Given the description of an element on the screen output the (x, y) to click on. 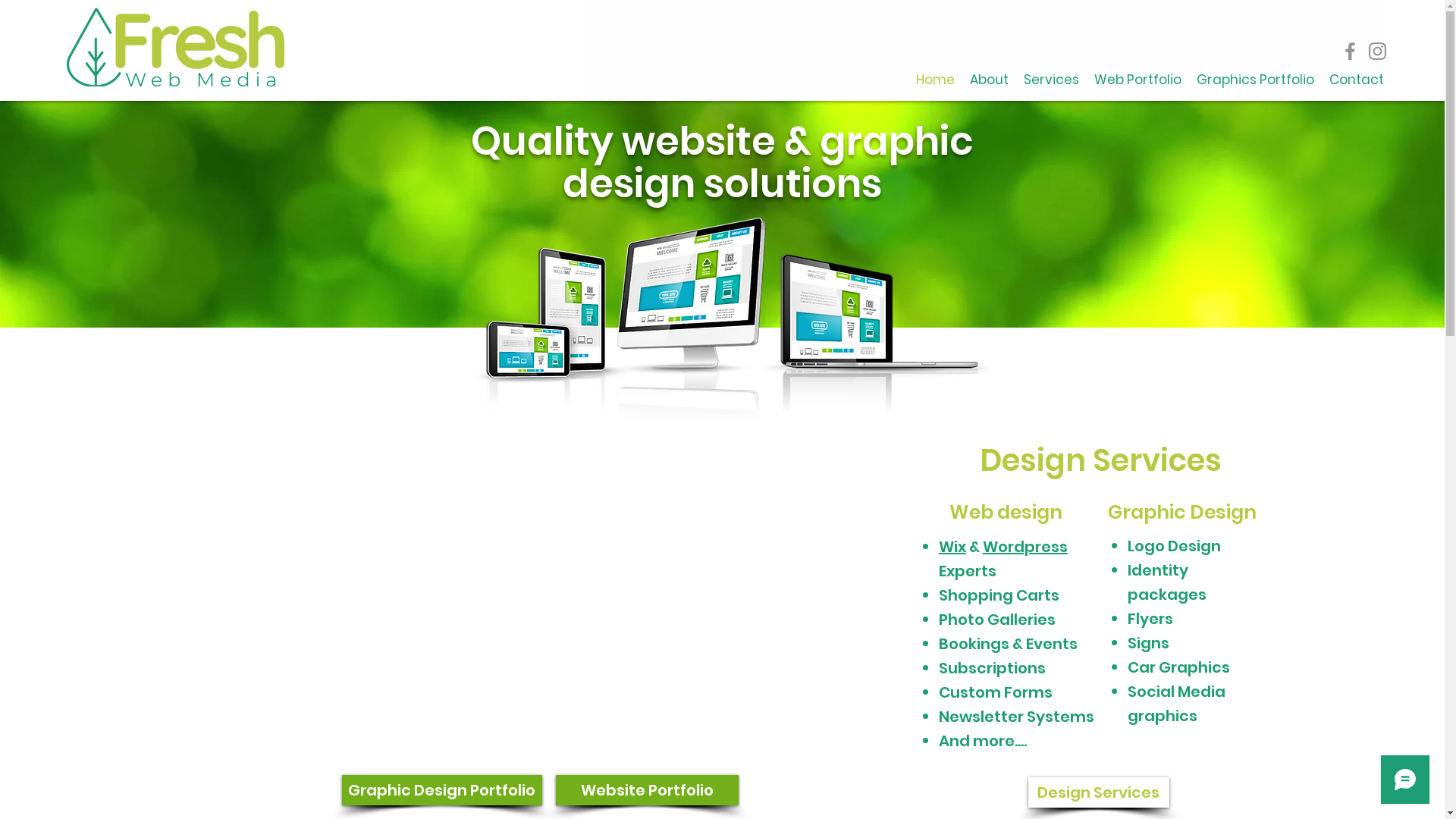
Website Portfolio Element type: text (646, 790)
Web design Element type: text (1005, 511)
Home Element type: text (935, 79)
Graphics Portfolio Element type: text (1255, 79)
About Element type: text (989, 79)
Graphic Design Portfolio Element type: text (441, 790)
Contact Element type: text (1356, 79)
Wix Element type: text (952, 546)
Design Services Element type: text (1098, 792)
Graphic Design Element type: text (1181, 511)
Web Portfolio Element type: text (1137, 79)
Wordpress Element type: text (1024, 546)
Services Element type: text (1051, 79)
